Given the description of an element on the screen output the (x, y) to click on. 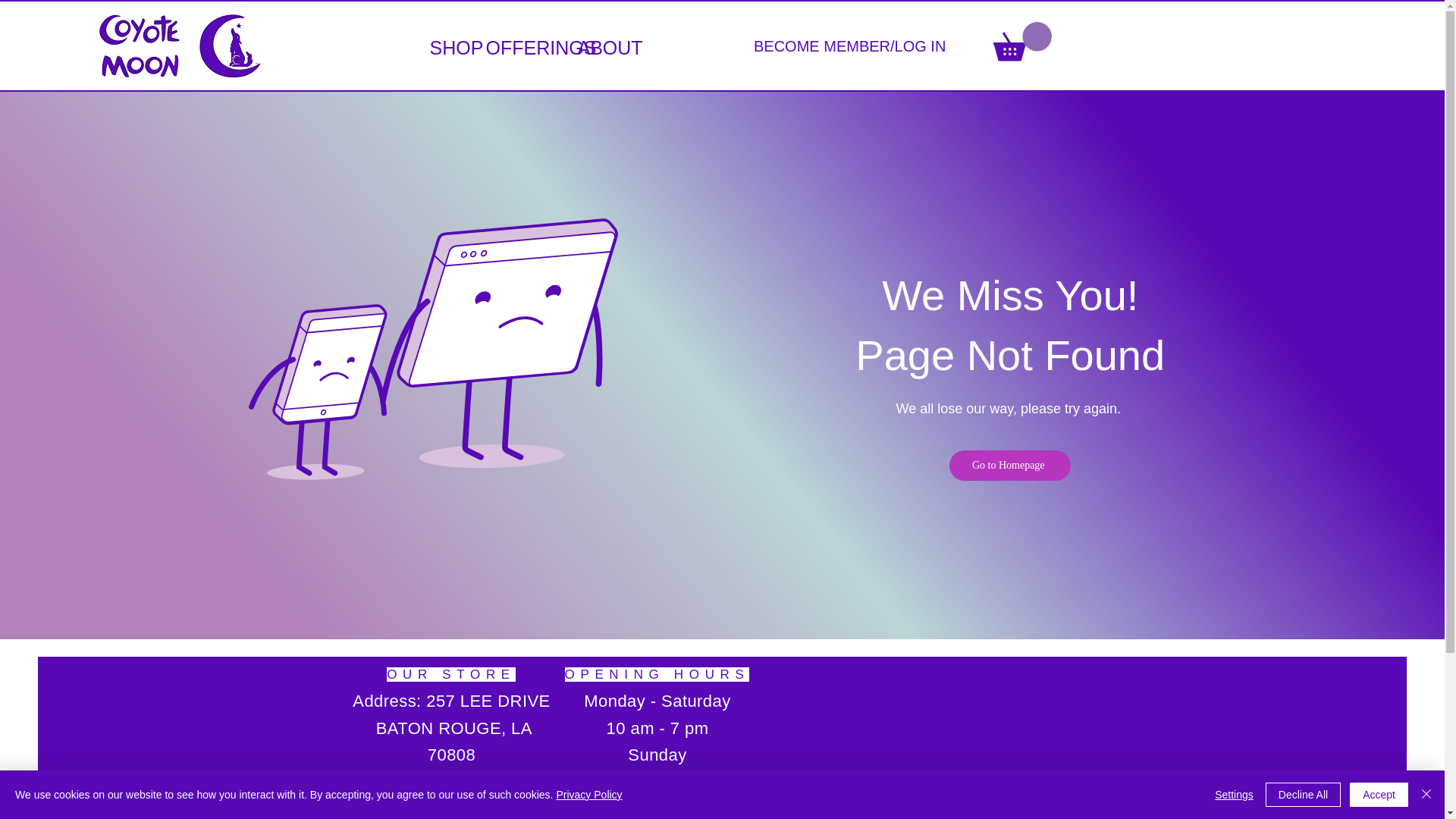
Privacy Policy (588, 794)
Go to Homepage (1009, 465)
Accept (1378, 794)
Decline All (1302, 794)
